Given the description of an element on the screen output the (x, y) to click on. 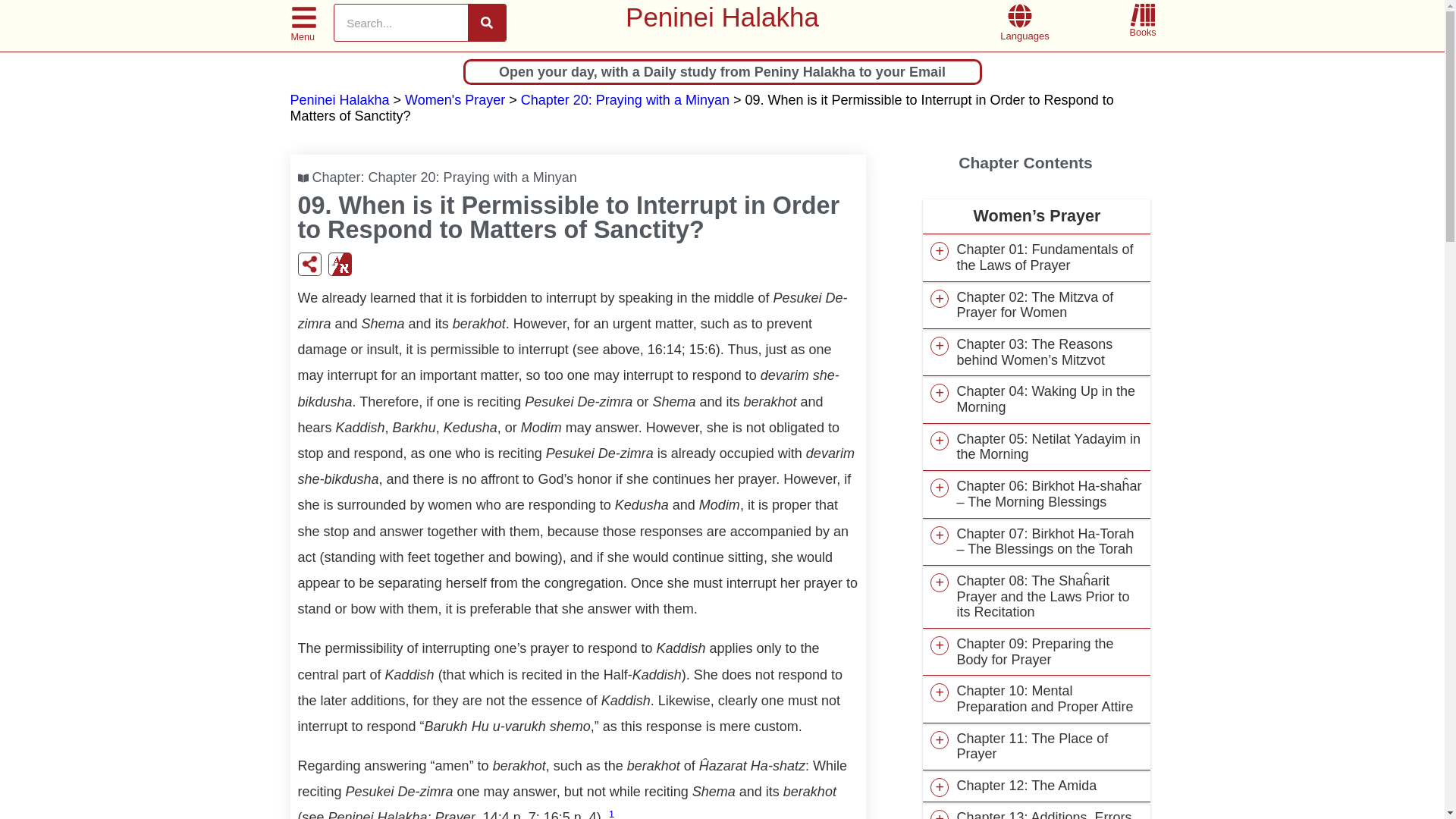
Women's Prayer (454, 99)
Peninei Halakha (338, 99)
Go to Peninei Halakha. (338, 99)
Languages (1024, 35)
Peninei Halakha (722, 16)
Go to the Women's Prayer category archives. (454, 99)
Chapter 20: Praying with a Minyan (472, 177)
Chapter 20: Praying with a Minyan (625, 99)
